Given the description of an element on the screen output the (x, y) to click on. 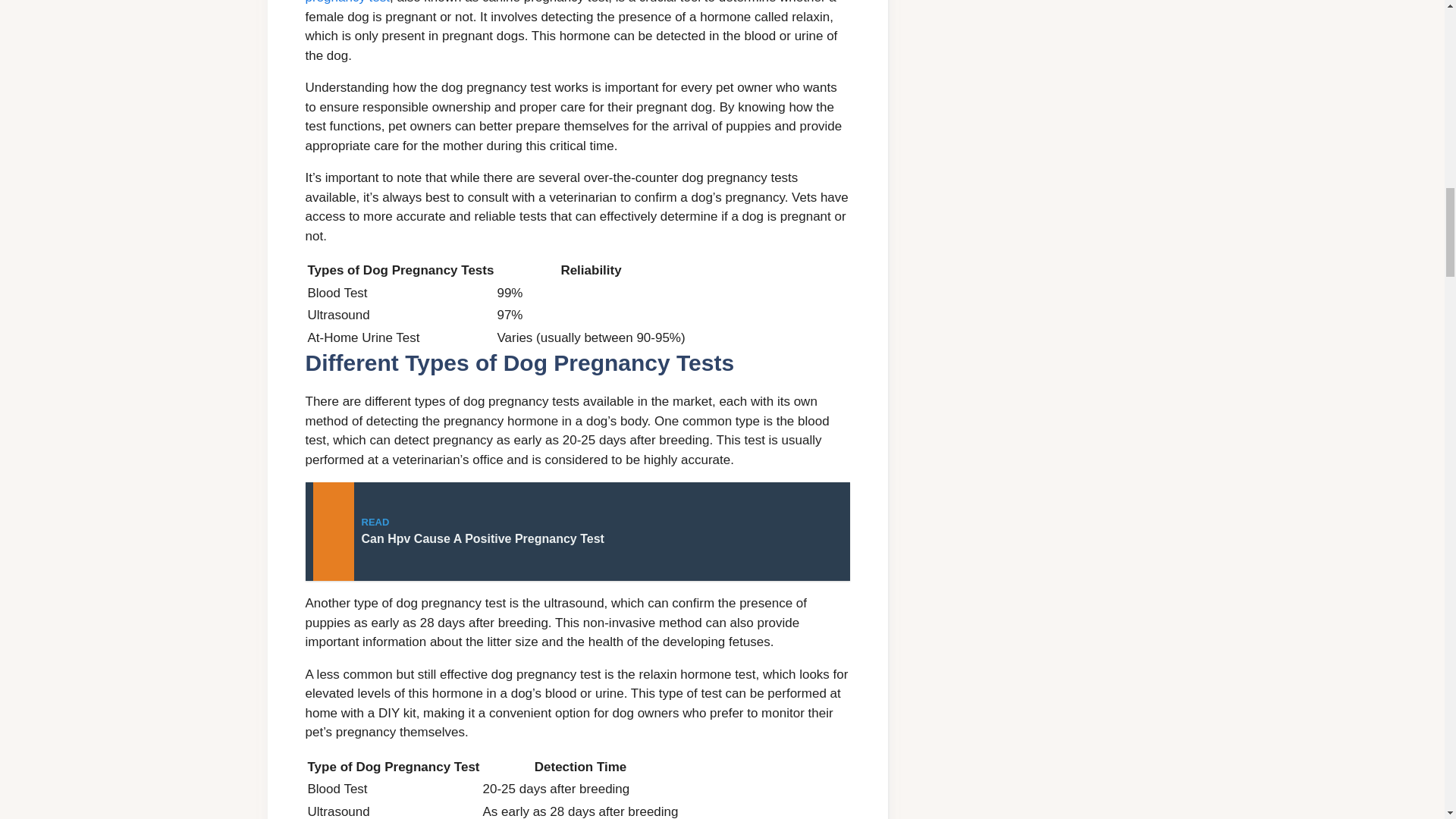
dog pregnancy test (576, 531)
